Given the description of an element on the screen output the (x, y) to click on. 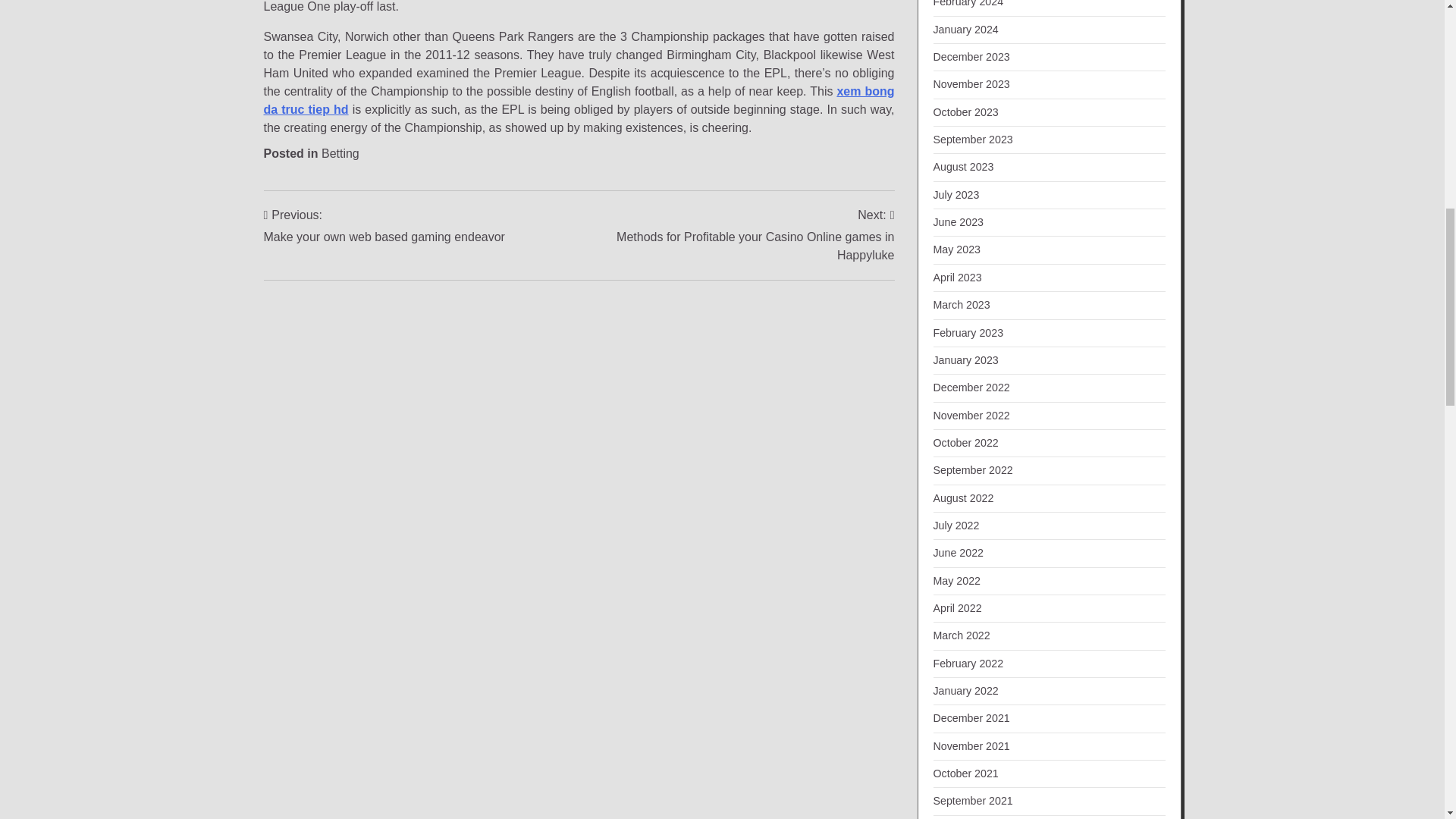
March 2023 (961, 304)
June 2023 (958, 222)
January 2024 (965, 29)
February 2024 (968, 3)
October 2023 (965, 111)
July 2023 (955, 194)
September 2023 (972, 139)
April 2023 (957, 277)
August 2023 (962, 166)
November 2023 (971, 83)
May 2023 (956, 249)
December 2023 (971, 56)
xem bong da truc tiep hd (579, 100)
Betting (340, 153)
